Given the description of an element on the screen output the (x, y) to click on. 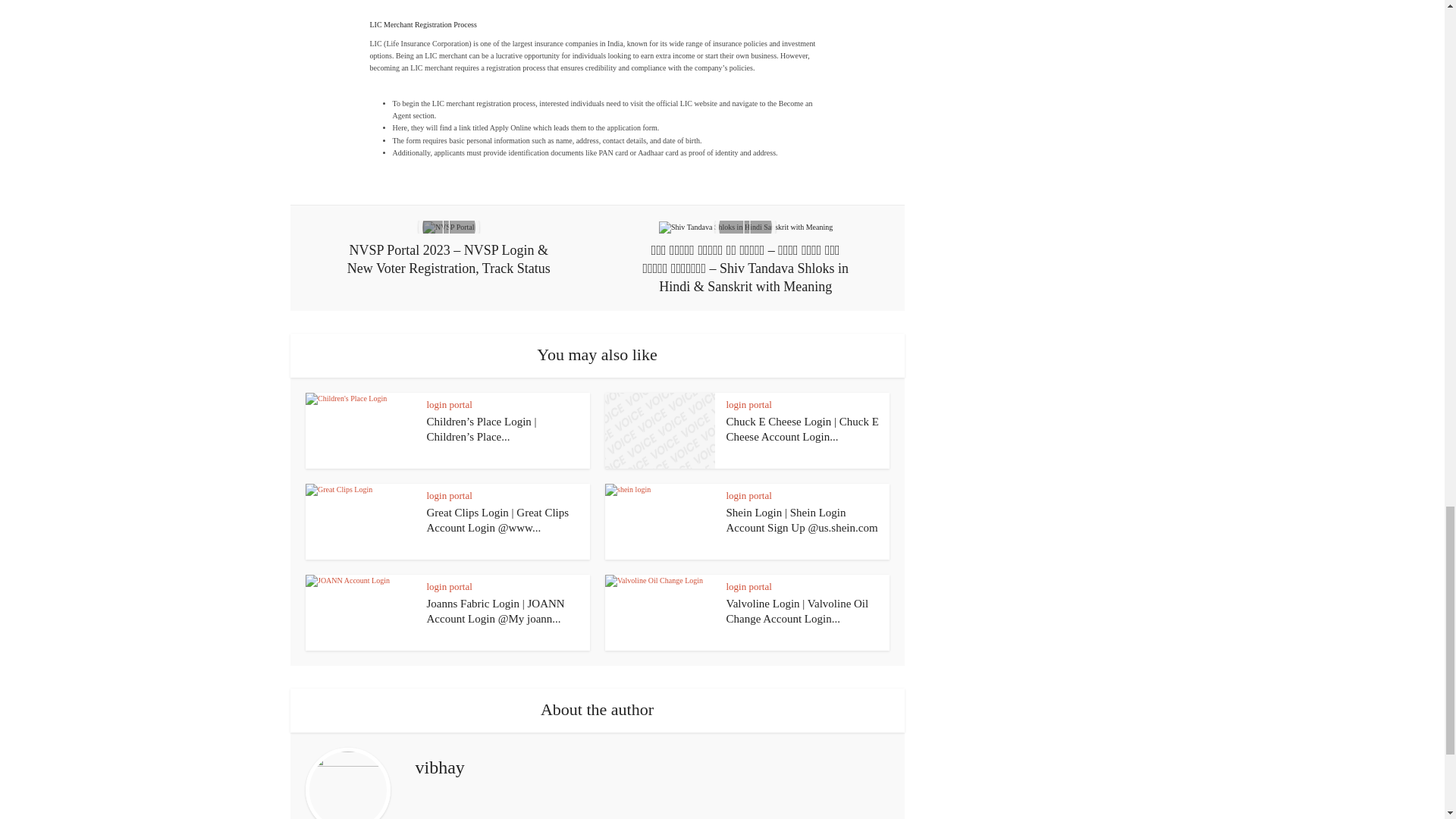
login portal (748, 495)
login portal (448, 586)
login portal (448, 404)
login portal (748, 586)
login portal (748, 404)
login portal (448, 495)
